Given the description of an element on the screen output the (x, y) to click on. 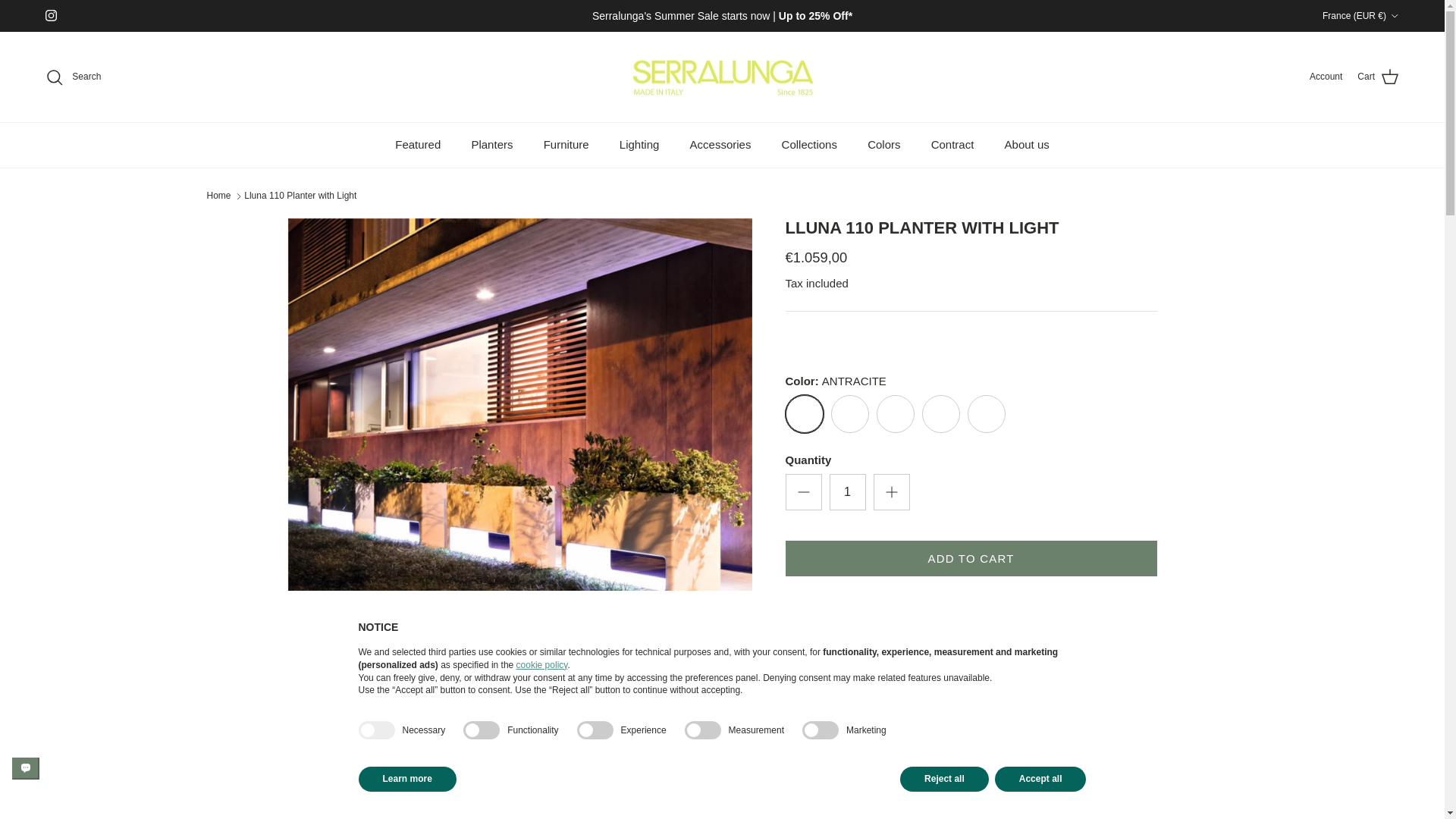
false (594, 730)
true (376, 730)
false (481, 730)
Featured (417, 144)
Instagram (50, 15)
1 (847, 492)
Account (1325, 76)
Planters (491, 144)
Furniture (565, 144)
Cart (1377, 76)
